Given the description of an element on the screen output the (x, y) to click on. 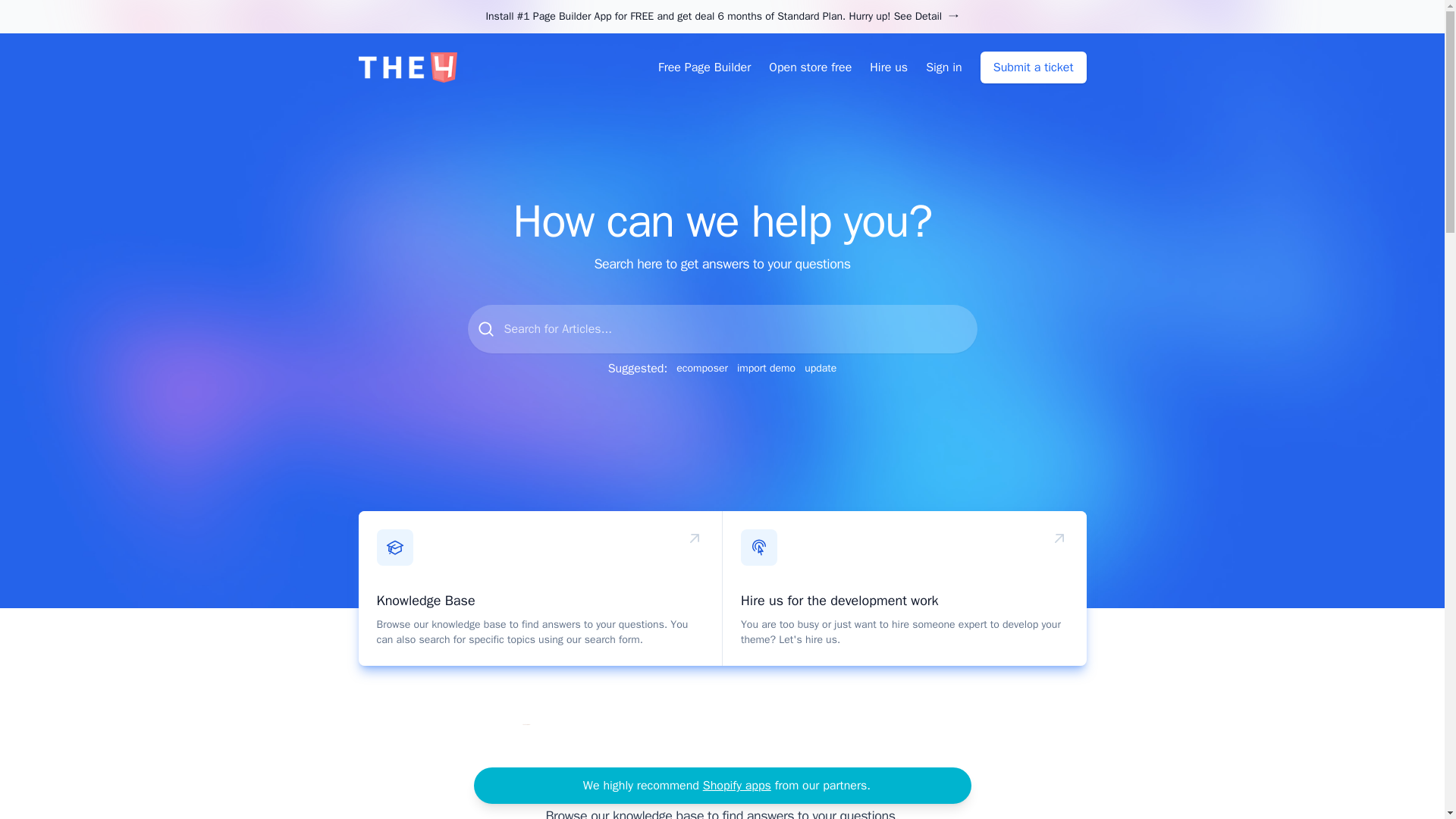
Open store free (809, 67)
Sign in (944, 67)
Free Page Builder (704, 67)
Submit a ticket (1032, 67)
Knowledge Base (424, 600)
ecomposer (702, 368)
Hire us (888, 67)
The4 Support System (407, 67)
import demo (765, 368)
update (820, 368)
